Given the description of an element on the screen output the (x, y) to click on. 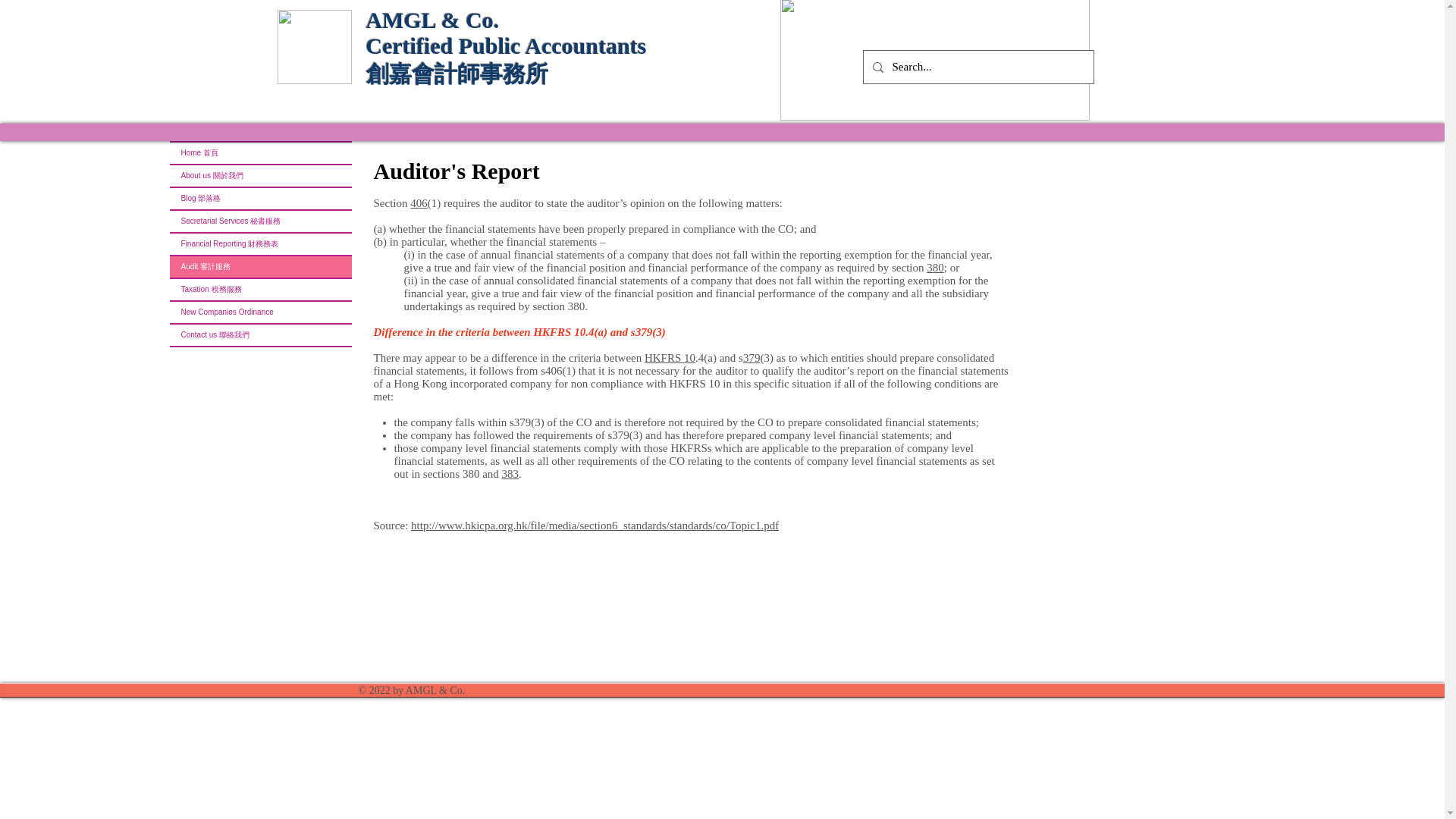
380 (934, 267)
HKFRS 10 (670, 357)
379 (751, 357)
406 (419, 203)
New Companies Ordinance (261, 312)
383 (510, 473)
